Given the description of an element on the screen output the (x, y) to click on. 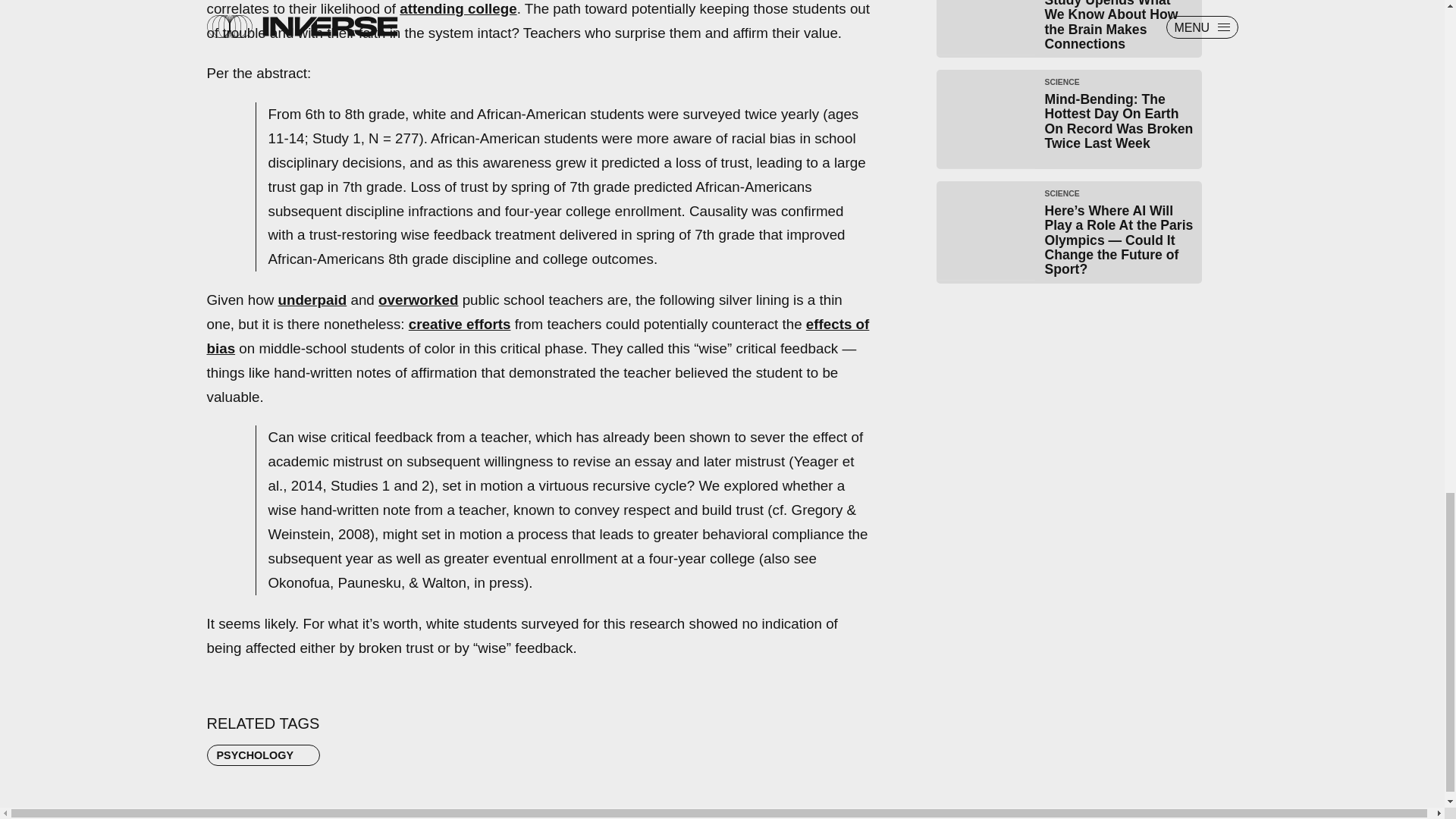
PSYCHOLOGY (263, 754)
overworked (418, 299)
attending college (457, 8)
underpaid (312, 299)
creative efforts (460, 324)
effects of bias (537, 336)
